Given the description of an element on the screen output the (x, y) to click on. 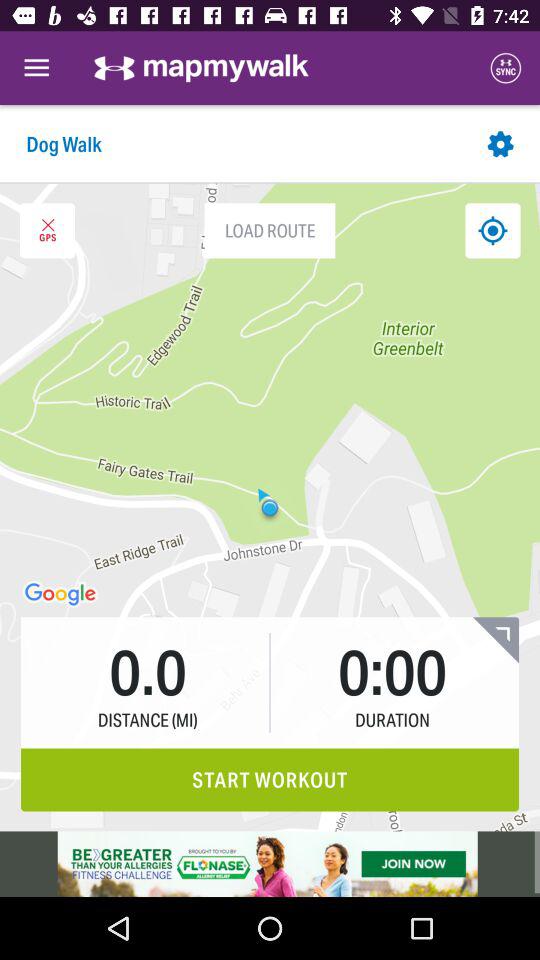
colas (47, 230)
